Given the description of an element on the screen output the (x, y) to click on. 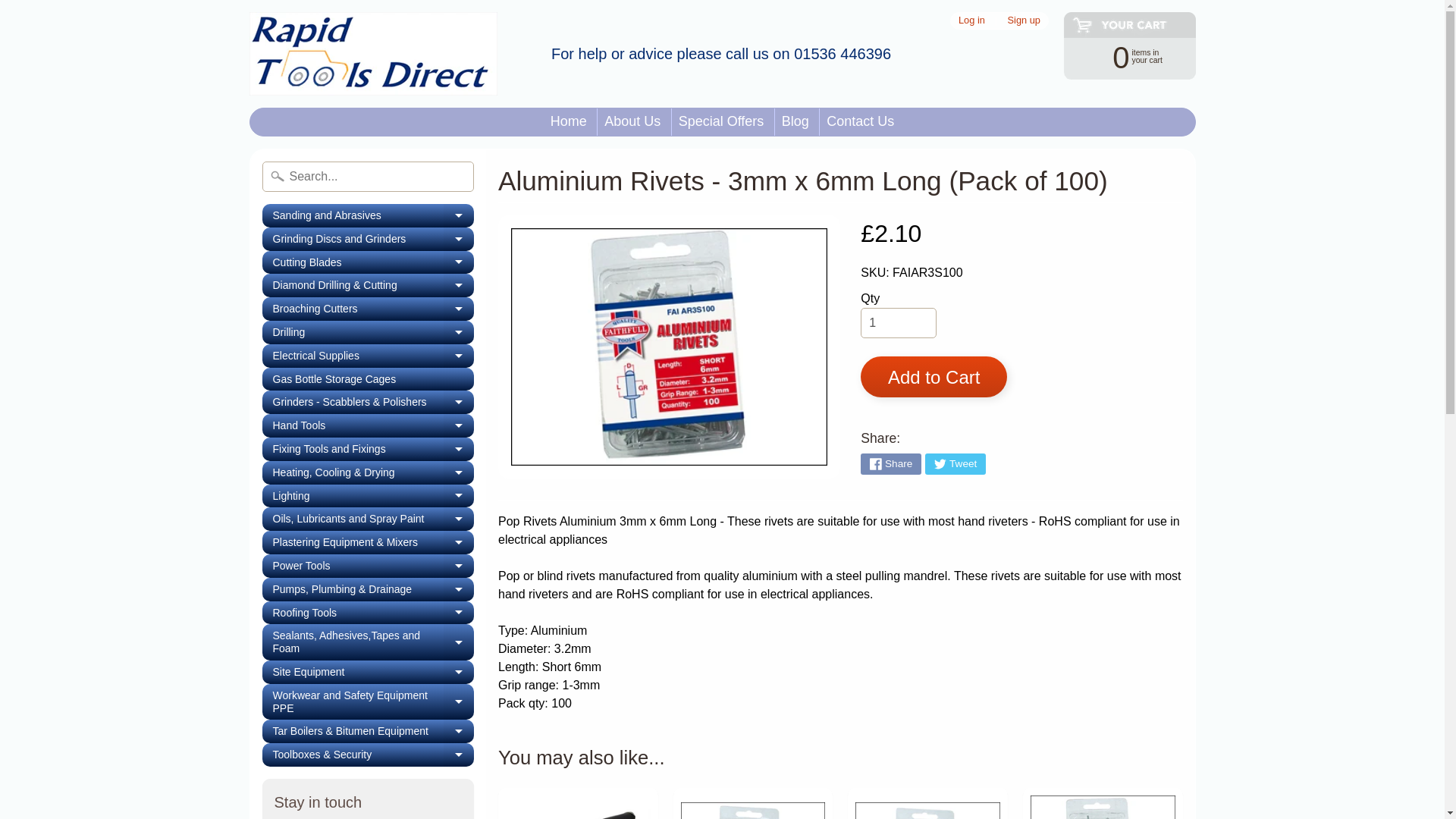
Special Offers (368, 238)
Blog (721, 121)
Rapid Tools Direct (794, 121)
Sign up (372, 53)
Share on Facebook (1024, 20)
Log in (890, 464)
Home (1122, 56)
Contact Us (970, 20)
Heavy-Duty Riveter (568, 121)
Expand child menu (860, 121)
Tweet on Twitter (577, 803)
Expand child menu (368, 215)
